Given the description of an element on the screen output the (x, y) to click on. 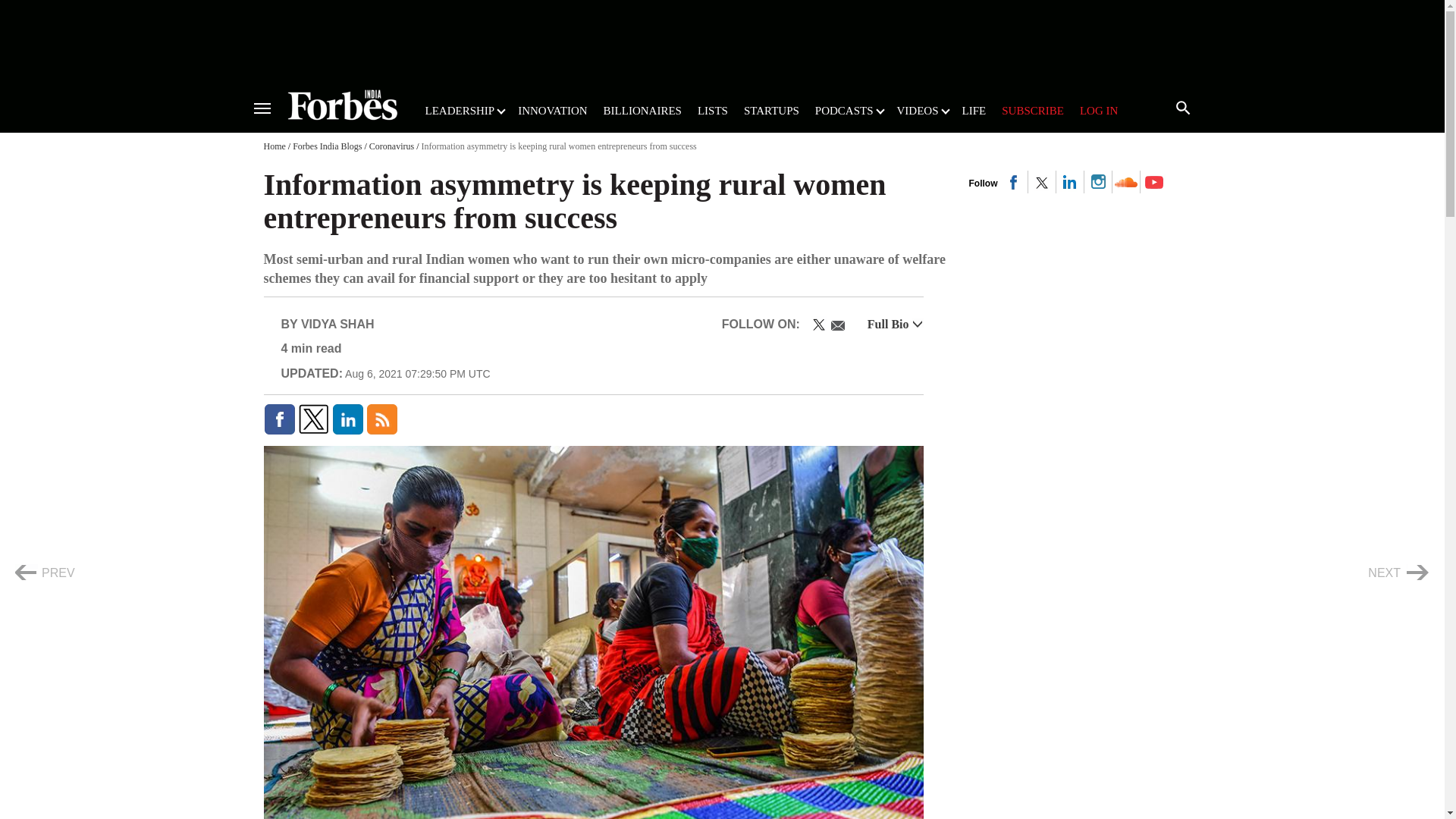
3rd party ad content (1082, 288)
3rd party ad content (721, 39)
